Given the description of an element on the screen output the (x, y) to click on. 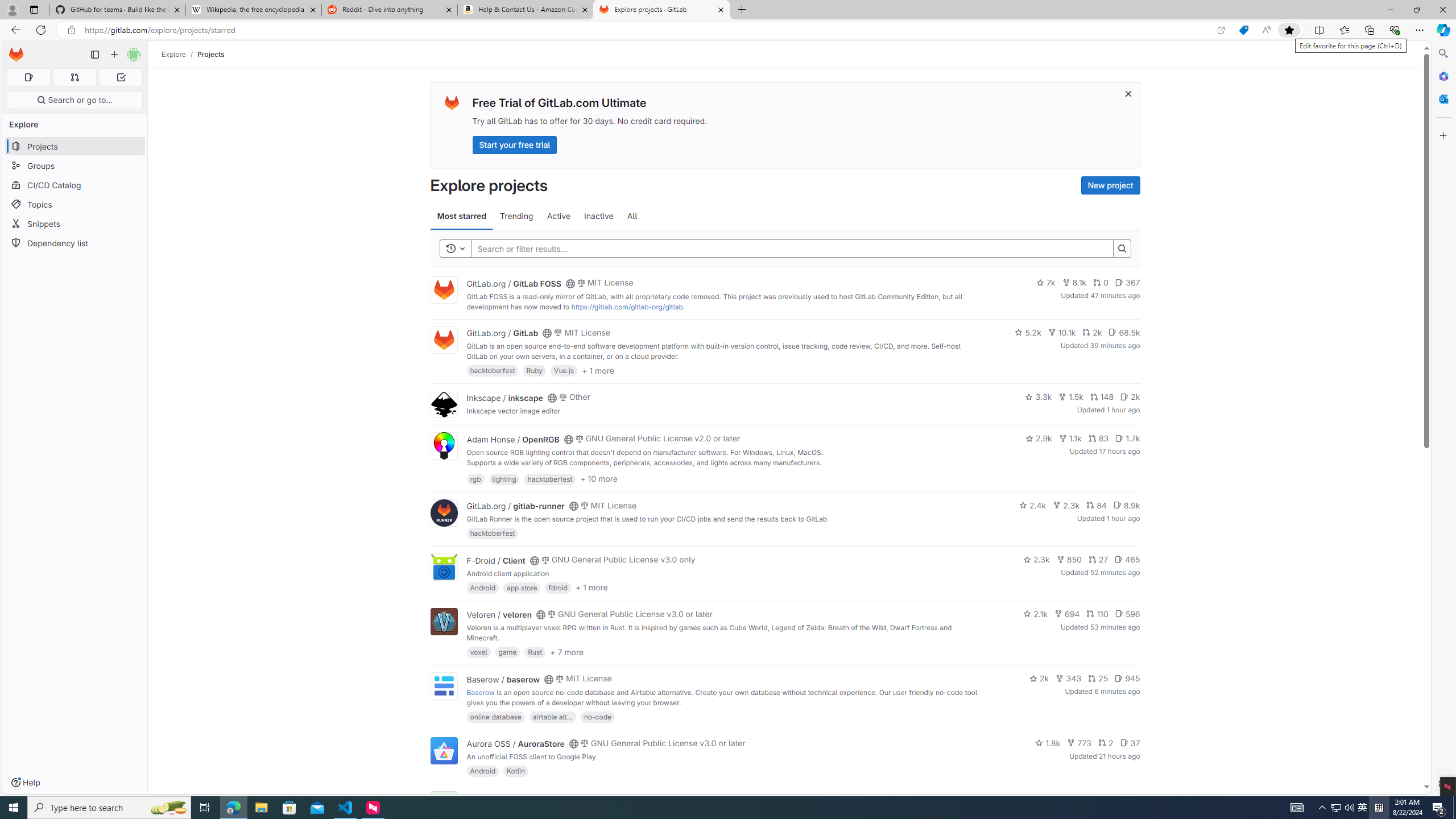
voxel (478, 651)
5.2k (1027, 331)
Baserow / baserow (502, 678)
Edouard Klein / falsisign (512, 797)
online database (495, 715)
GitLab.org / gitlab-runner (514, 506)
Groups (74, 165)
Trending (516, 216)
Android (482, 770)
Topics (74, 203)
Wikipedia, the free encyclopedia (253, 9)
2 (1105, 742)
